Given the description of an element on the screen output the (x, y) to click on. 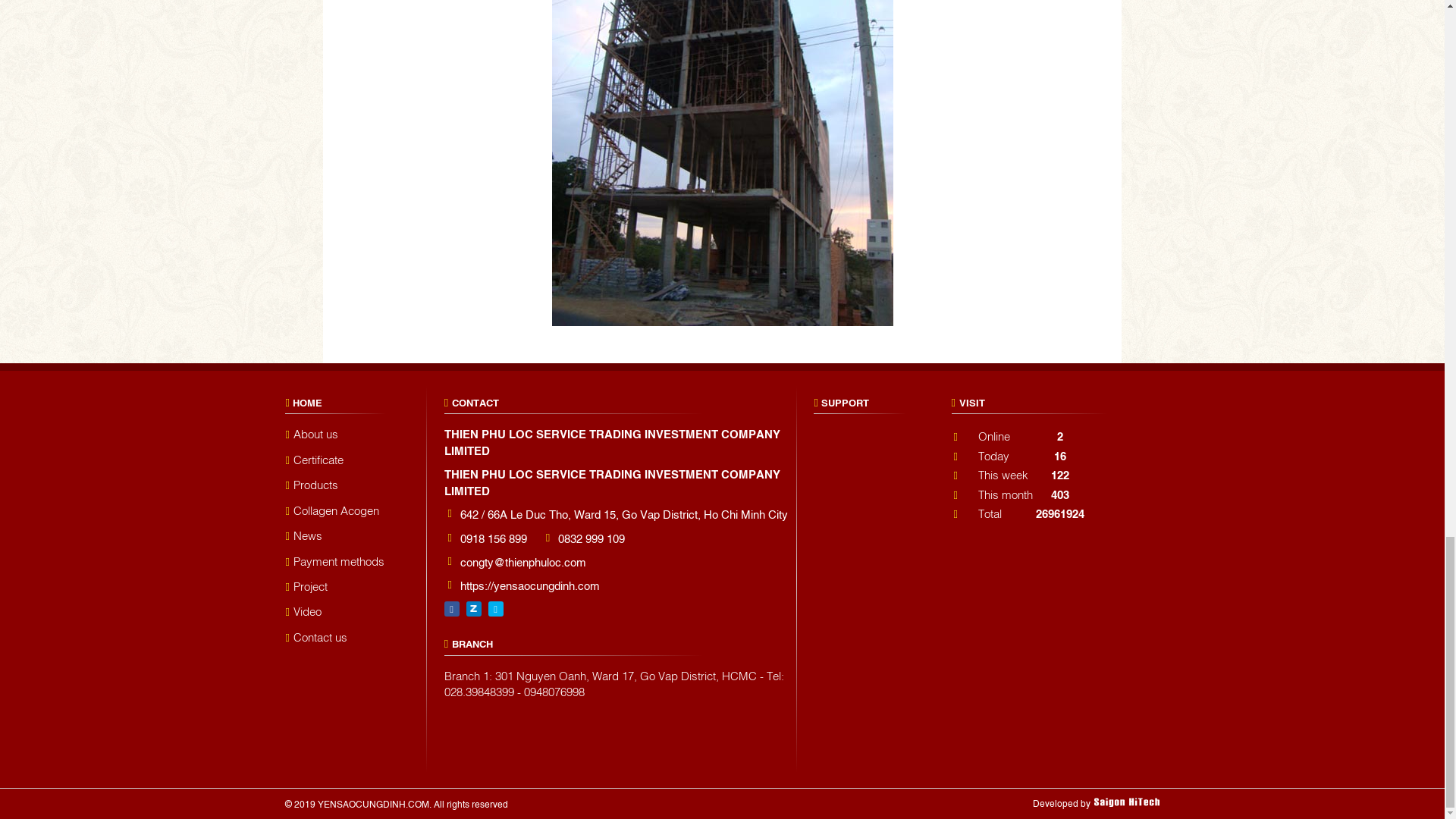
Project (305, 586)
About us (311, 434)
Contact us (315, 637)
Products (311, 484)
News (303, 535)
HOME (306, 400)
Certificate (313, 459)
Payment methods (334, 561)
Collagen Acogen (331, 510)
Video (302, 610)
